Given the description of an element on the screen output the (x, y) to click on. 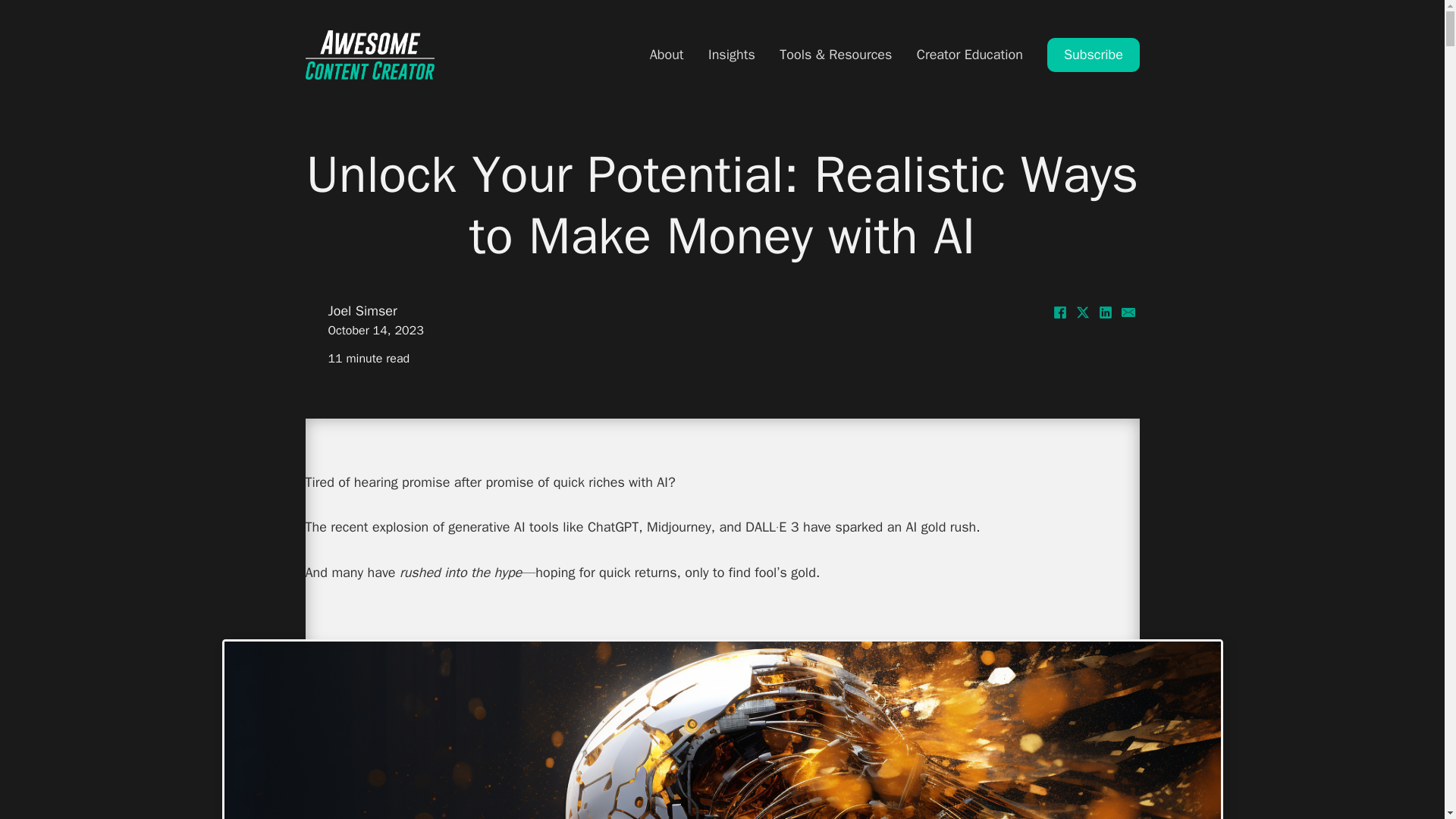
About (666, 55)
Subscribe (1092, 54)
Insights (731, 55)
Creator Education (970, 55)
